Given the description of an element on the screen output the (x, y) to click on. 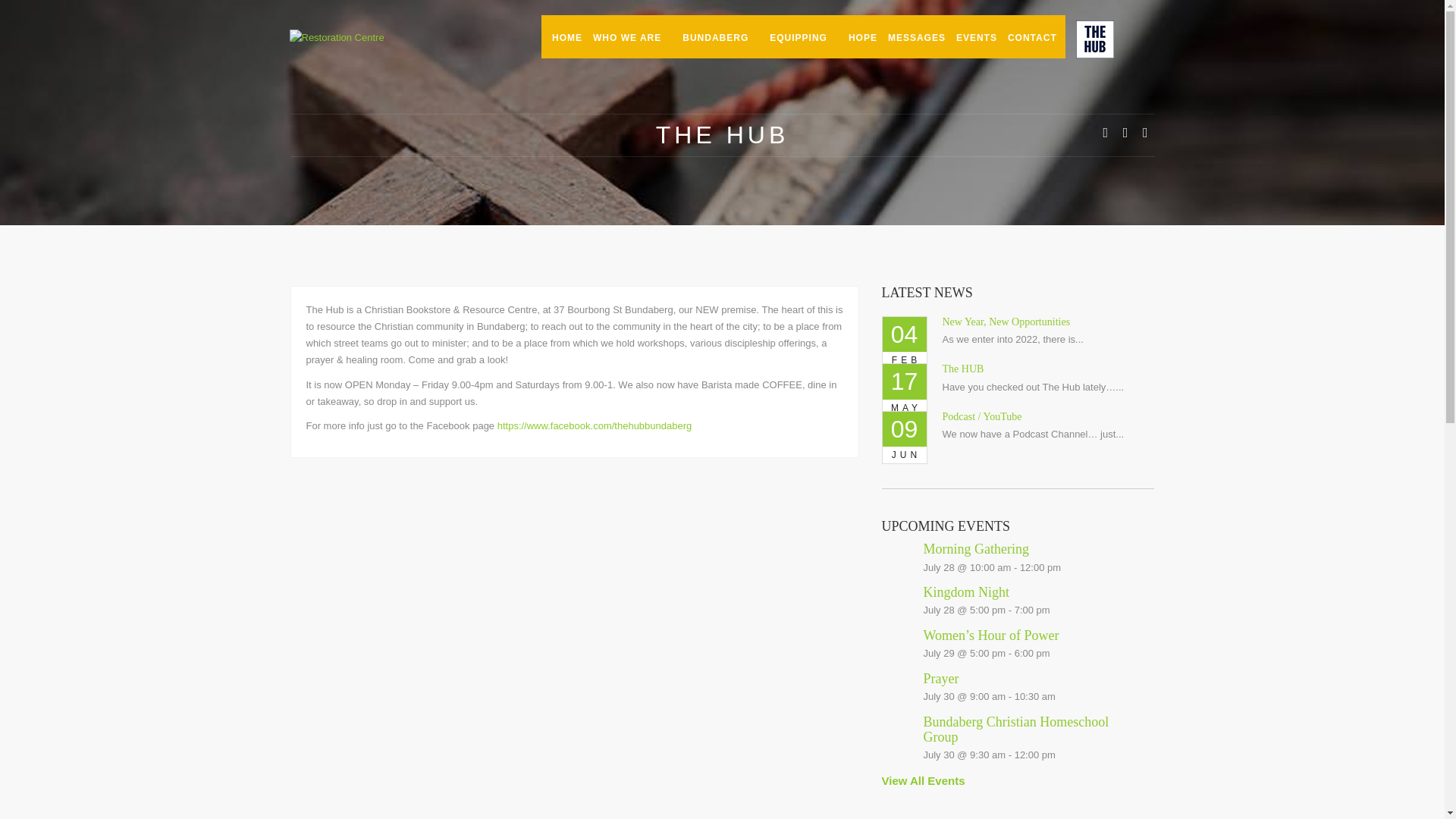
HOME (561, 36)
HOPE (857, 36)
CONTACT (1031, 36)
New Year, New Opportunities (1006, 321)
New Year, New Opportunities (1006, 321)
MESSAGES (910, 36)
Morning Gathering (976, 548)
Kingdom Night (966, 591)
EQUIPPING (798, 36)
The HUB (963, 368)
WHO WE ARE (626, 36)
Bundaberg Christian Homeschool Group (1016, 729)
BUNDABERG (714, 36)
The HUB (963, 368)
View All Events (921, 780)
